Given the description of an element on the screen output the (x, y) to click on. 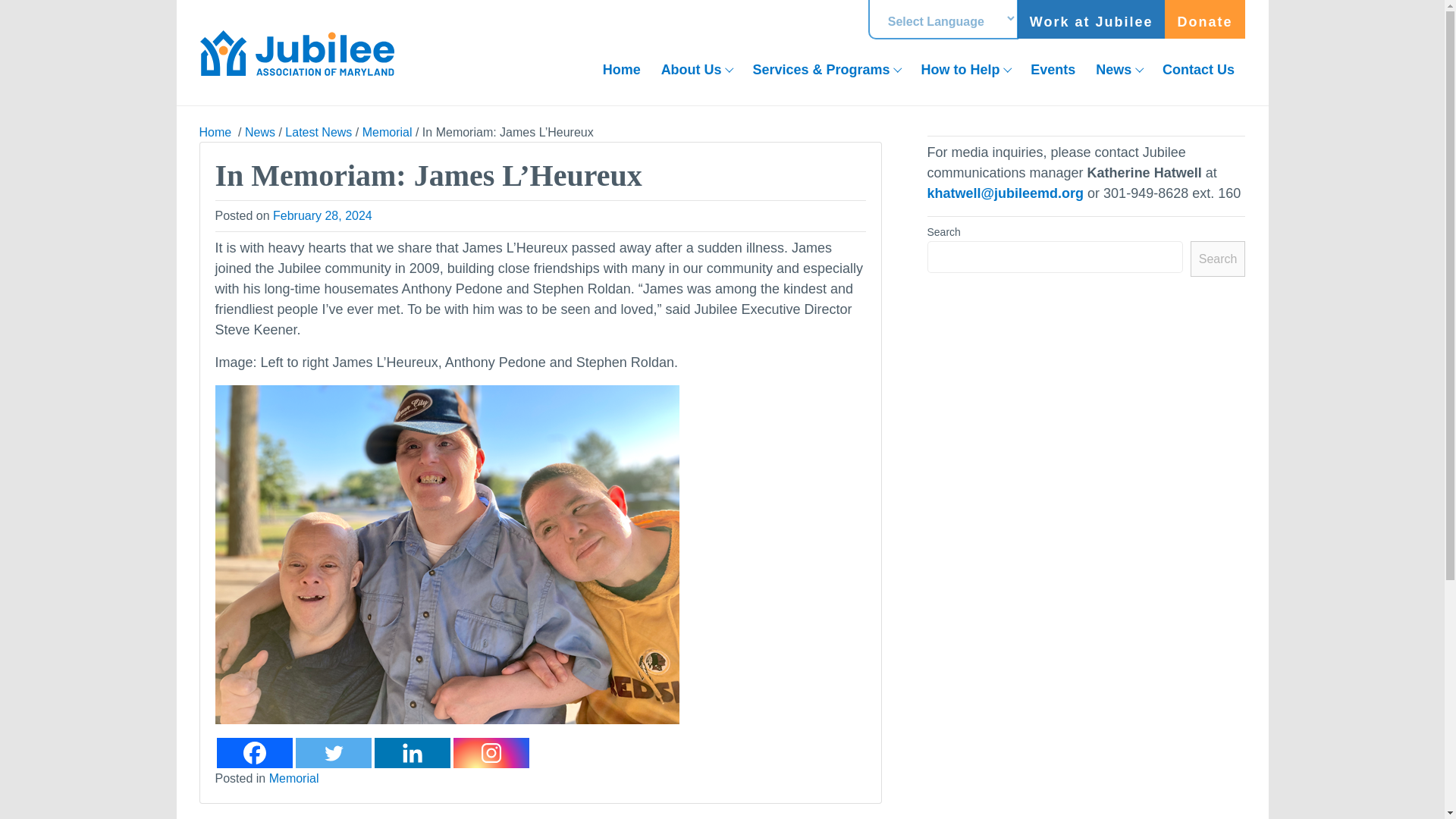
Home (621, 69)
Memorial (387, 132)
Work at Jubilee (1091, 19)
Events (1053, 69)
February 28, 2024 (322, 215)
News (259, 132)
Home (621, 69)
Donate (1204, 19)
Donate (1204, 19)
